Given the description of an element on the screen output the (x, y) to click on. 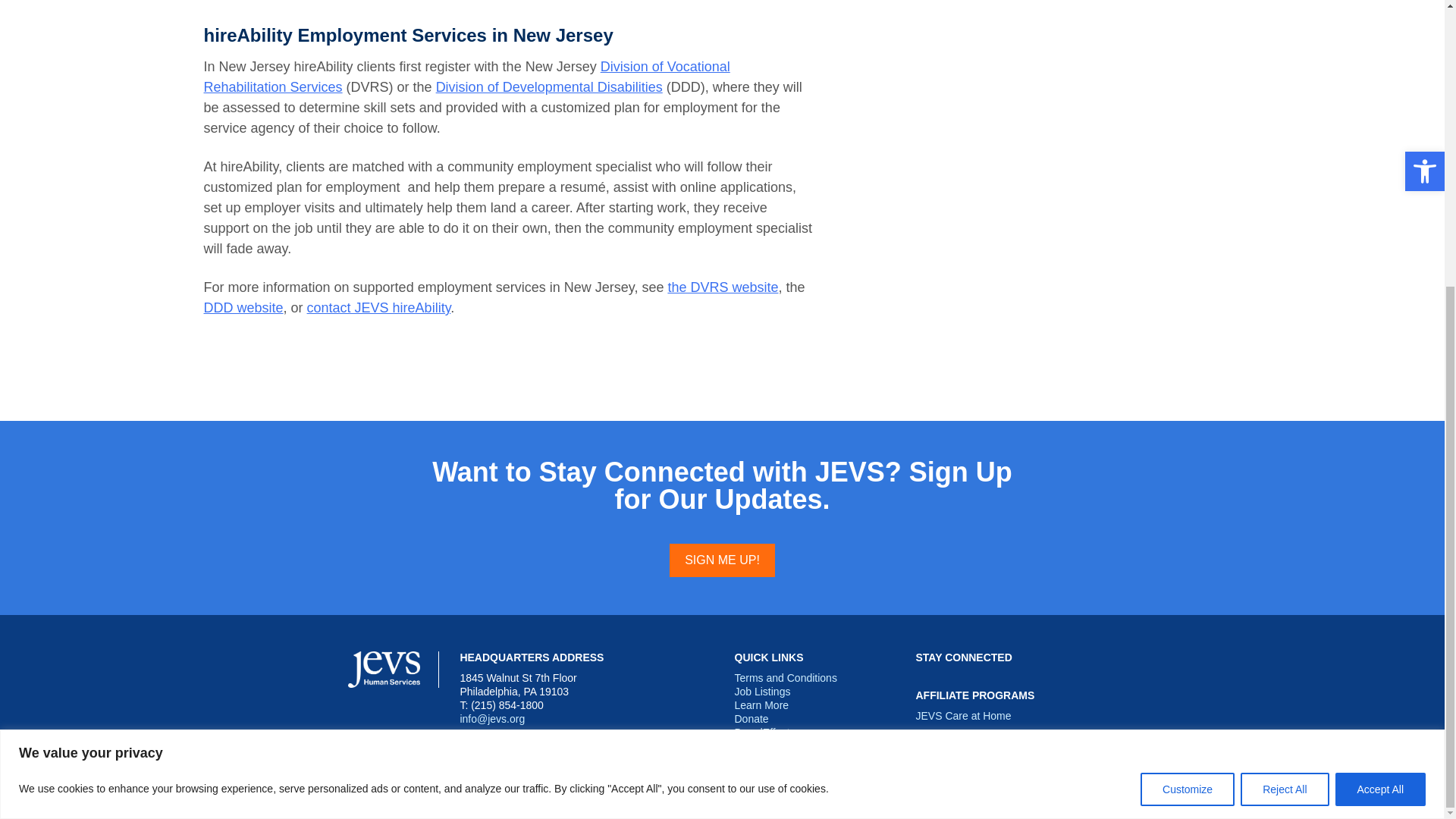
Customize (1187, 356)
Reject All (1283, 356)
Accept All (1380, 356)
